Given the description of an element on the screen output the (x, y) to click on. 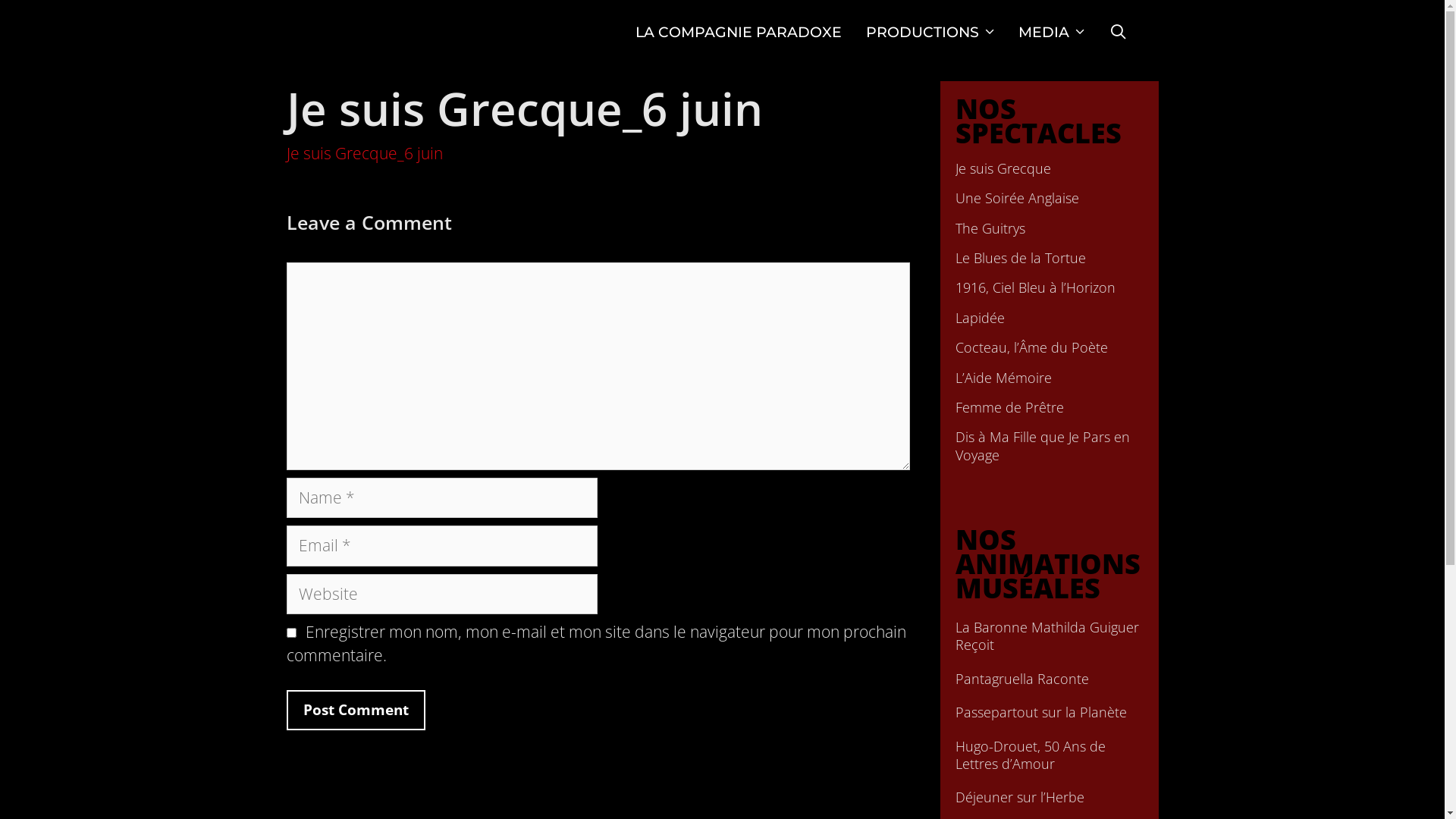
Post Comment Element type: text (355, 710)
LA COMPAGNIE PARADOXE Element type: text (738, 32)
PRODUCTIONS Element type: text (929, 32)
Je suis Grecque Element type: text (1049, 168)
The Guitrys Element type: text (1049, 228)
Pantagruella Raconte Element type: text (1049, 678)
Search Element type: text (257, 27)
Je suis Grecque_6 juin Element type: text (364, 152)
MEDIA Element type: text (1050, 32)
Le Blues de la Tortue Element type: text (1049, 257)
SEARCH Element type: text (1117, 32)
NOS SPECTACLES Element type: text (1038, 120)
